Given the description of an element on the screen output the (x, y) to click on. 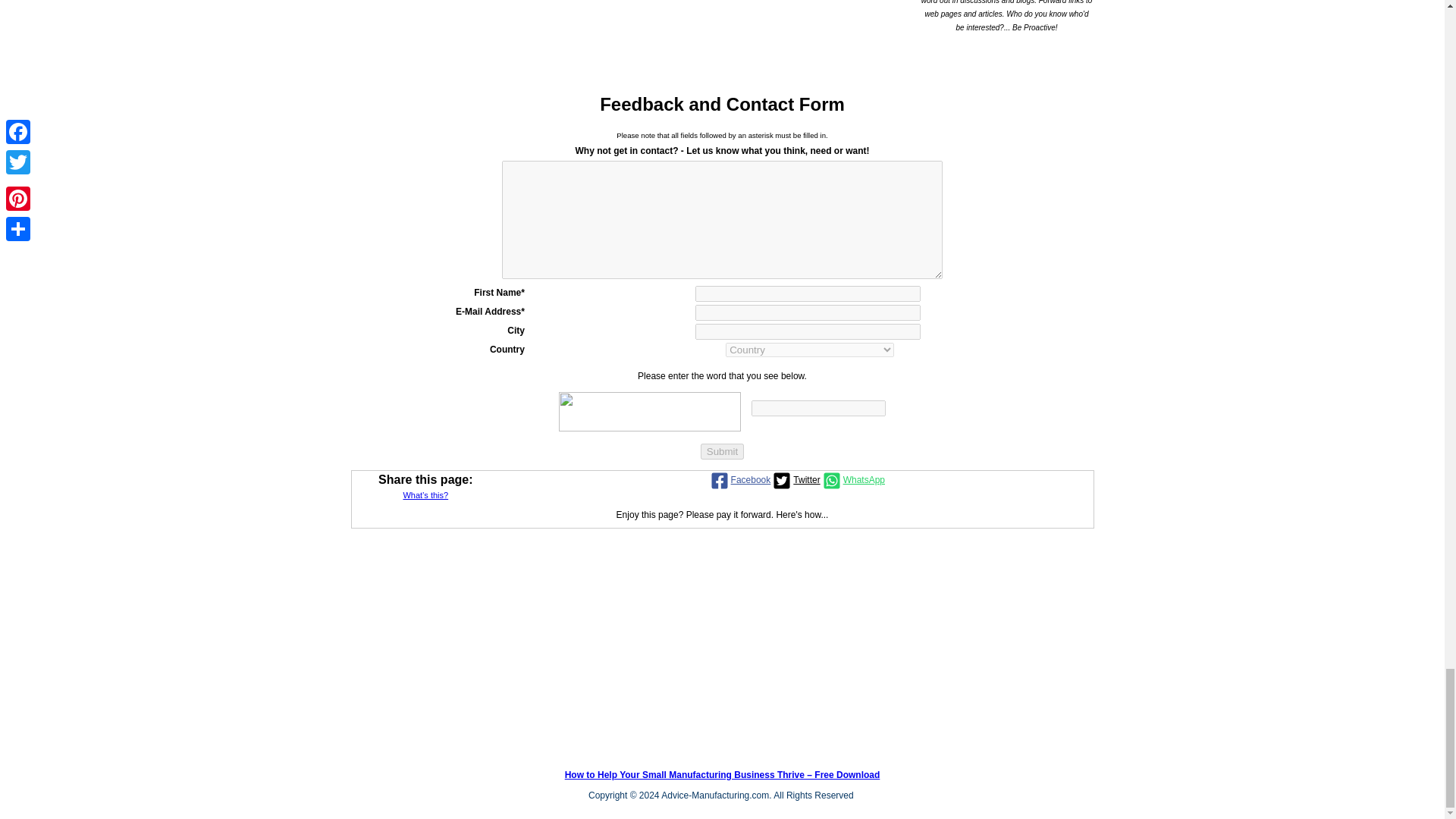
Submit (722, 451)
